Given the description of an element on the screen output the (x, y) to click on. 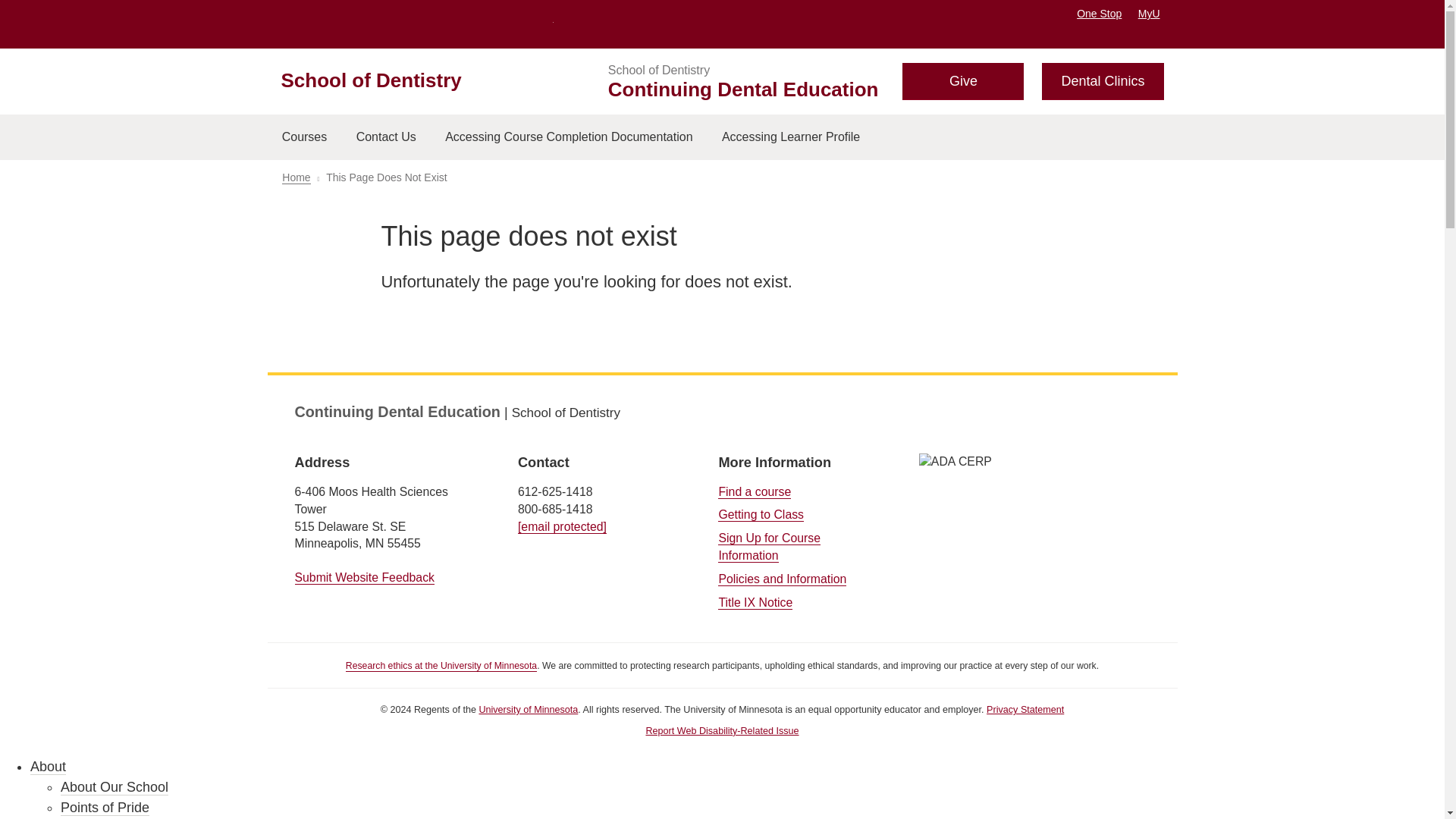
One Stop (1099, 13)
Accessing Learner Profile (791, 136)
Dental Clinics (1102, 81)
Getting to Class (760, 514)
Sign Up for Course Information (769, 546)
School of Dentistry (659, 69)
Points of Pride (105, 807)
Contact Us (385, 136)
Submit Website Feedback (363, 577)
Title IX Notice (754, 602)
